Given the description of an element on the screen output the (x, y) to click on. 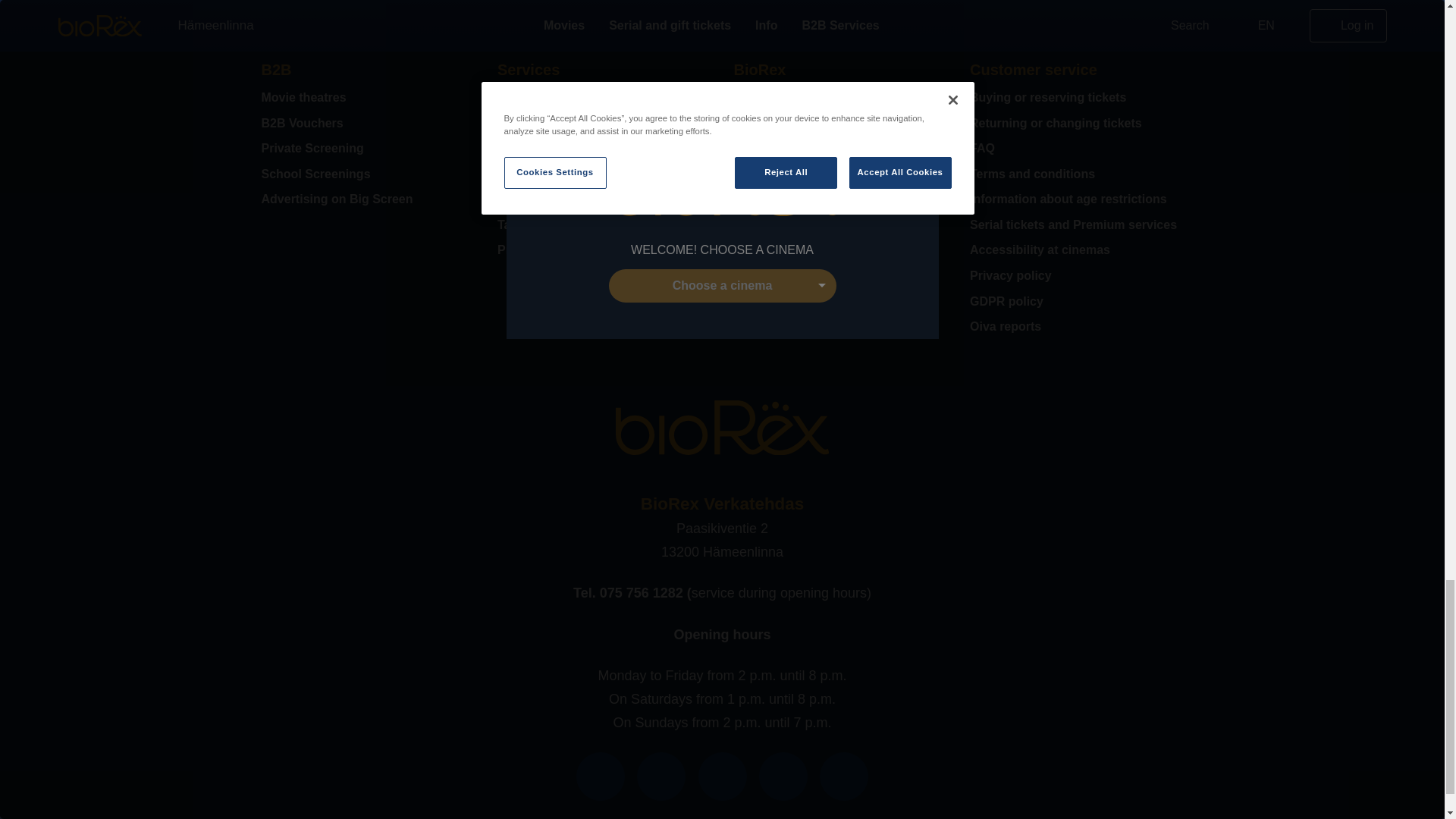
Premium services (604, 249)
B2B Vouchers (367, 123)
About us (840, 97)
Give us feedback (840, 199)
Work for us (840, 174)
Gem of the Month (604, 174)
Family Movie Day (604, 148)
Movie theatres (367, 97)
Family Movie Day (604, 148)
Pieni elokuvakerho (604, 97)
Senior Movie Day (604, 123)
Private Screening (367, 148)
Royal Opera House  (604, 199)
Advertising on Big Screen (367, 199)
Pieni elokuvakerho (604, 97)
